Given the description of an element on the screen output the (x, y) to click on. 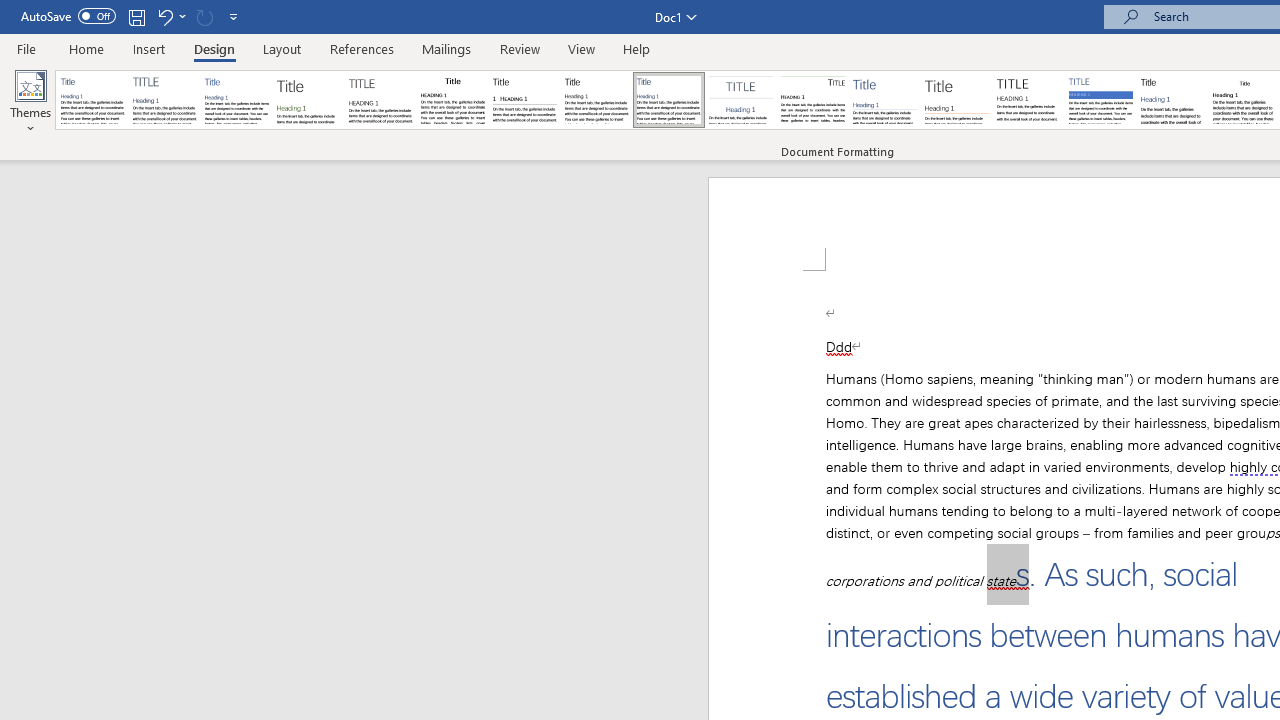
Document (93, 100)
Basic (Elegant) (164, 100)
Lines (Stylish) (957, 100)
Word (1172, 100)
